Given the description of an element on the screen output the (x, y) to click on. 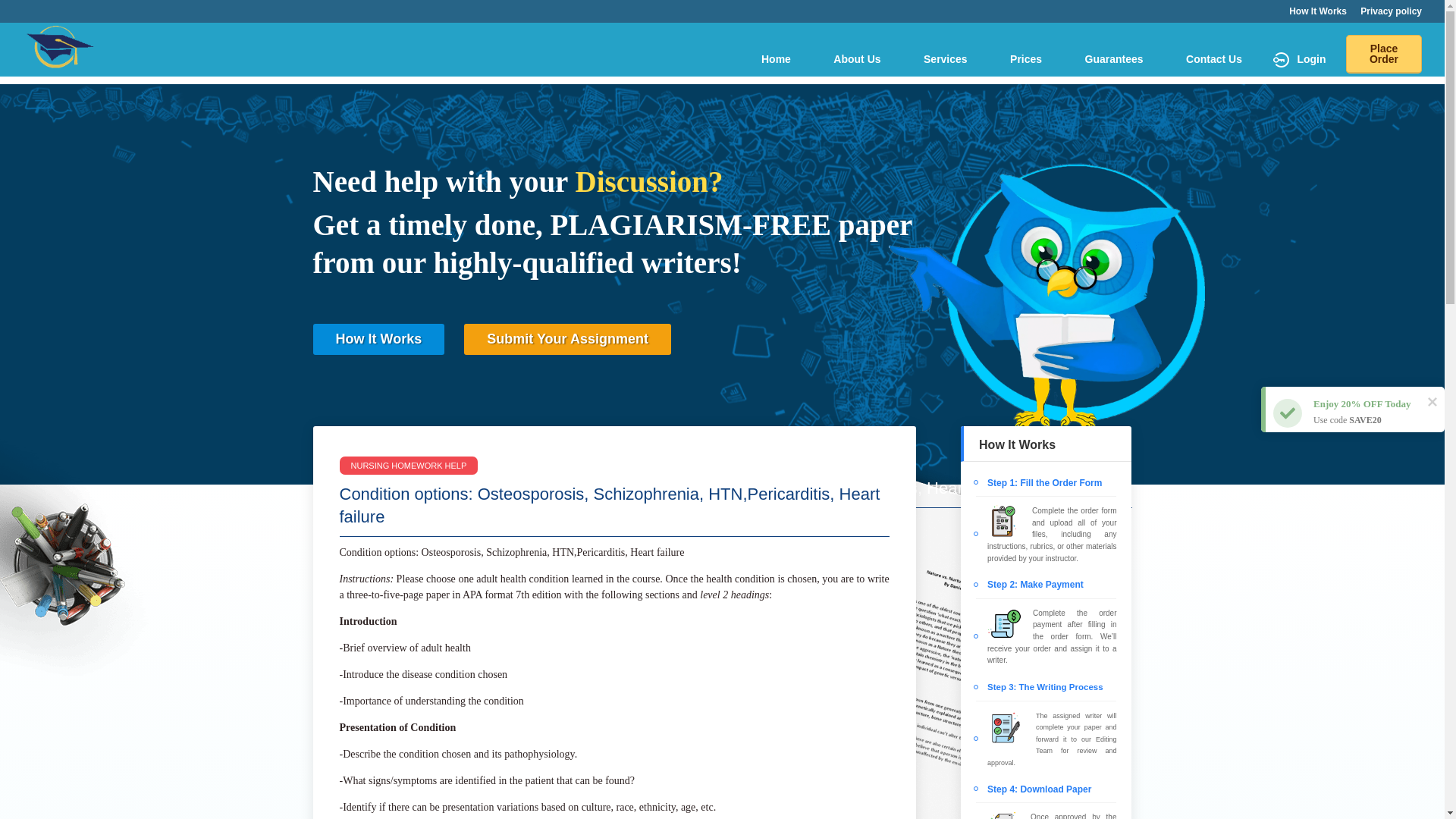
Contact Us (1213, 58)
order form (1098, 510)
Prices (1025, 58)
How It Works (378, 338)
NURSING HOMEWORK HELP (409, 465)
Services (945, 58)
About Us (856, 58)
NURSING HOMEWORK HELP (722, 527)
Place Order (1383, 54)
Submit Your Assignment (567, 338)
